Given the description of an element on the screen output the (x, y) to click on. 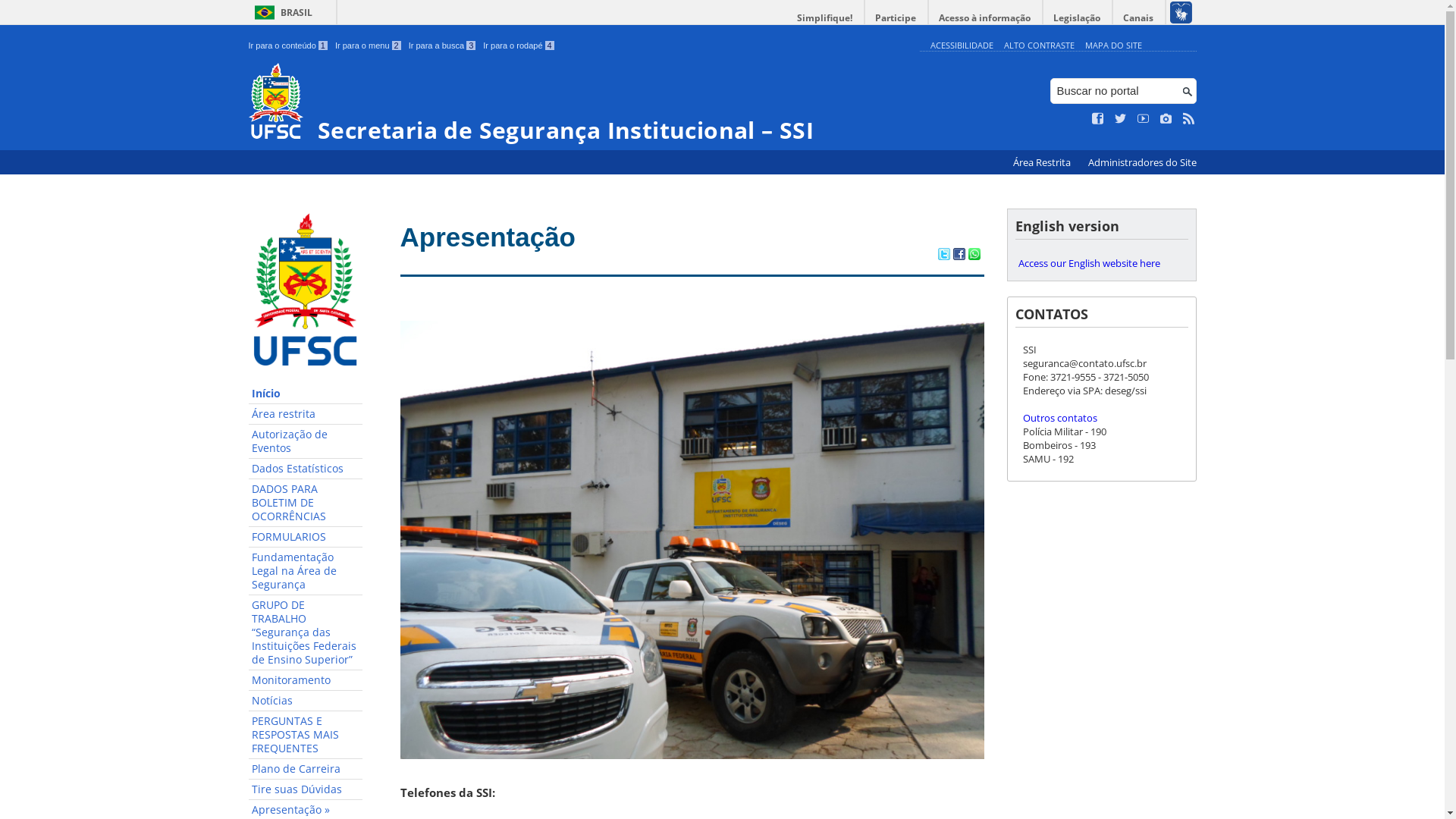
Monitoramento Element type: text (305, 680)
FORMULARIOS Element type: text (305, 537)
Compartilhar no WhatsApp Element type: hover (973, 255)
Outros contatos Element type: text (1059, 417)
Canais Element type: text (1138, 18)
MAPA DO SITE Element type: text (1112, 44)
Ir para a busca 3 Element type: text (442, 45)
BRASIL Element type: text (280, 12)
PERGUNTAS E RESPOSTAS MAIS FREQUENTES Element type: text (305, 735)
Veja no Instagram Element type: hover (1166, 118)
Curta no Facebook Element type: hover (1098, 118)
Ir para o menu 2 Element type: text (368, 45)
Compartilhar no Twitter Element type: hover (943, 255)
Plano de Carreira Element type: text (305, 769)
ALTO CONTRASTE Element type: text (1039, 44)
ACESSIBILIDADE Element type: text (960, 44)
Siga no Twitter Element type: hover (1120, 118)
Participe Element type: text (895, 18)
Simplifique! Element type: text (825, 18)
Compartilhar no Facebook Element type: hover (958, 255)
Access our English website here Element type: text (1100, 263)
Administradores do Site Element type: text (1141, 162)
